Given the description of an element on the screen output the (x, y) to click on. 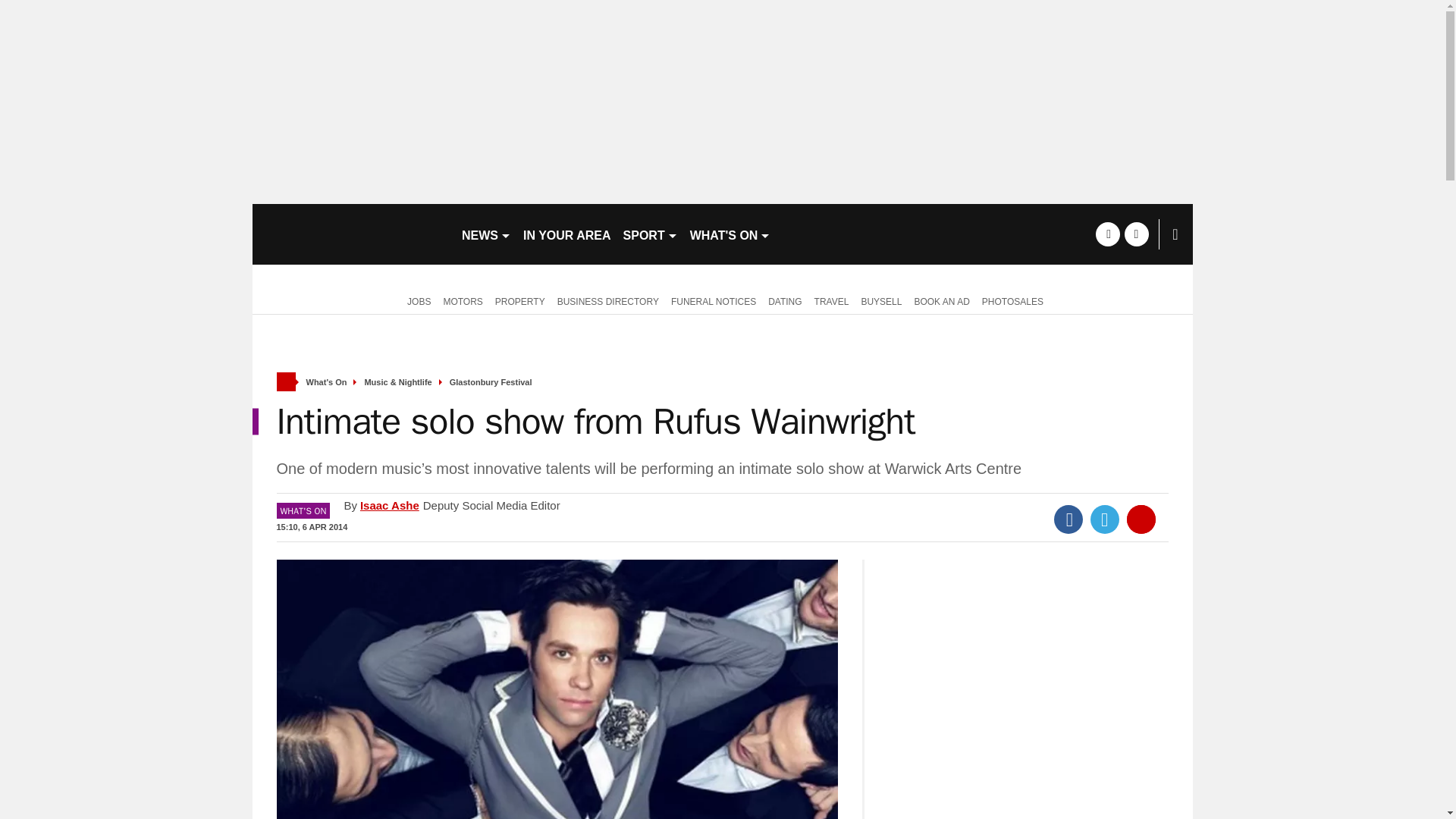
IN YOUR AREA (566, 233)
facebook (1106, 233)
NEWS (485, 233)
WHAT'S ON (730, 233)
BOOK AN AD (941, 300)
PHOTOSALES (1012, 300)
BUSINESS DIRECTORY (608, 300)
MOTORS (461, 300)
SPORT (650, 233)
FUNERAL NOTICES (713, 300)
Facebook (1068, 519)
hinckleytimes (349, 233)
DATING (784, 300)
JOBS (415, 300)
TRAVEL (832, 300)
